Given the description of an element on the screen output the (x, y) to click on. 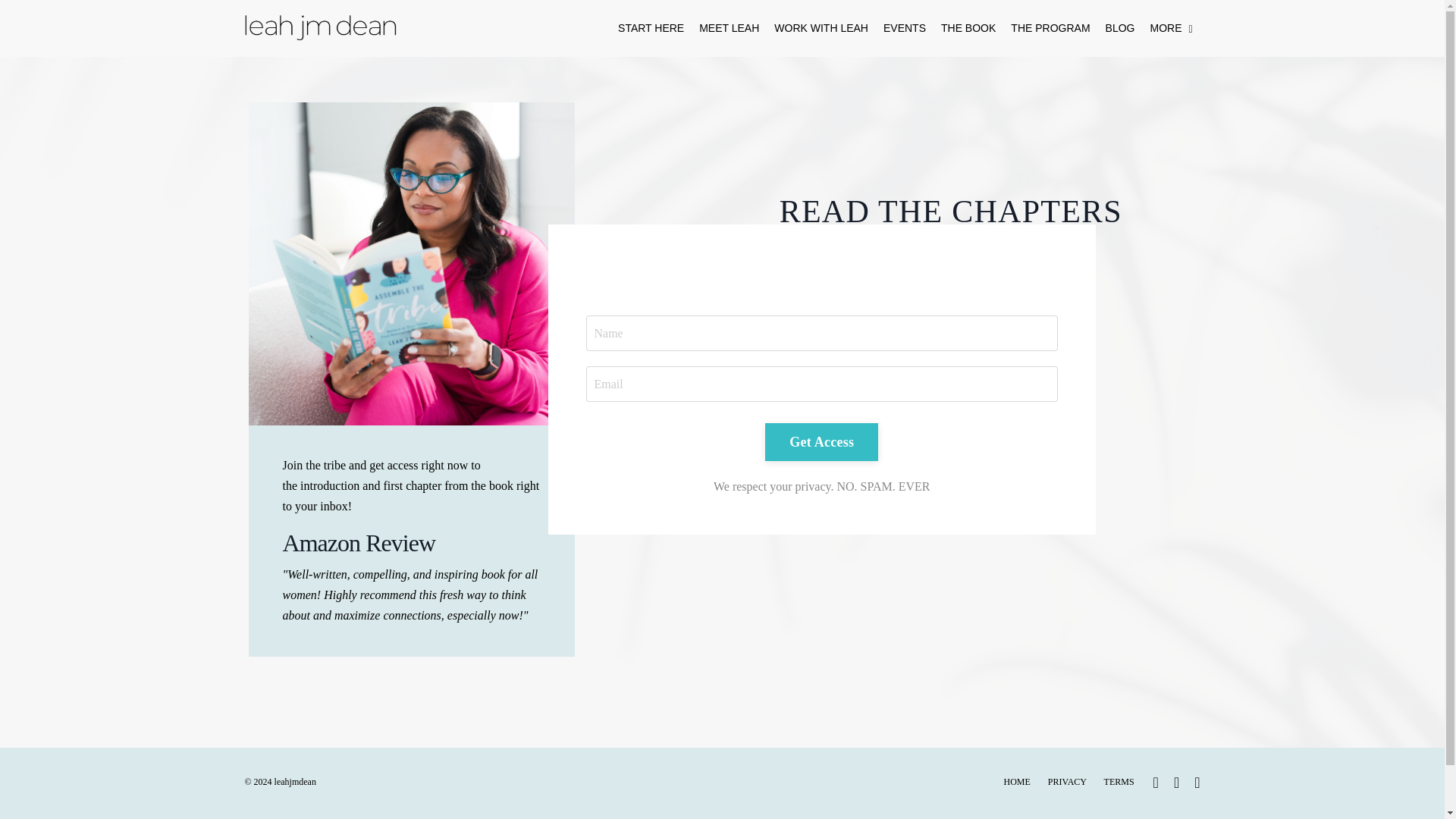
THE BOOK (967, 28)
MORE (1171, 28)
THE PROGRAM (1049, 28)
EVENTS (904, 28)
WORK WITH LEAH (820, 28)
Get Access (821, 442)
MEET LEAH (728, 28)
BLOG (1120, 28)
TERMS (1118, 781)
START HERE (650, 28)
